Given the description of an element on the screen output the (x, y) to click on. 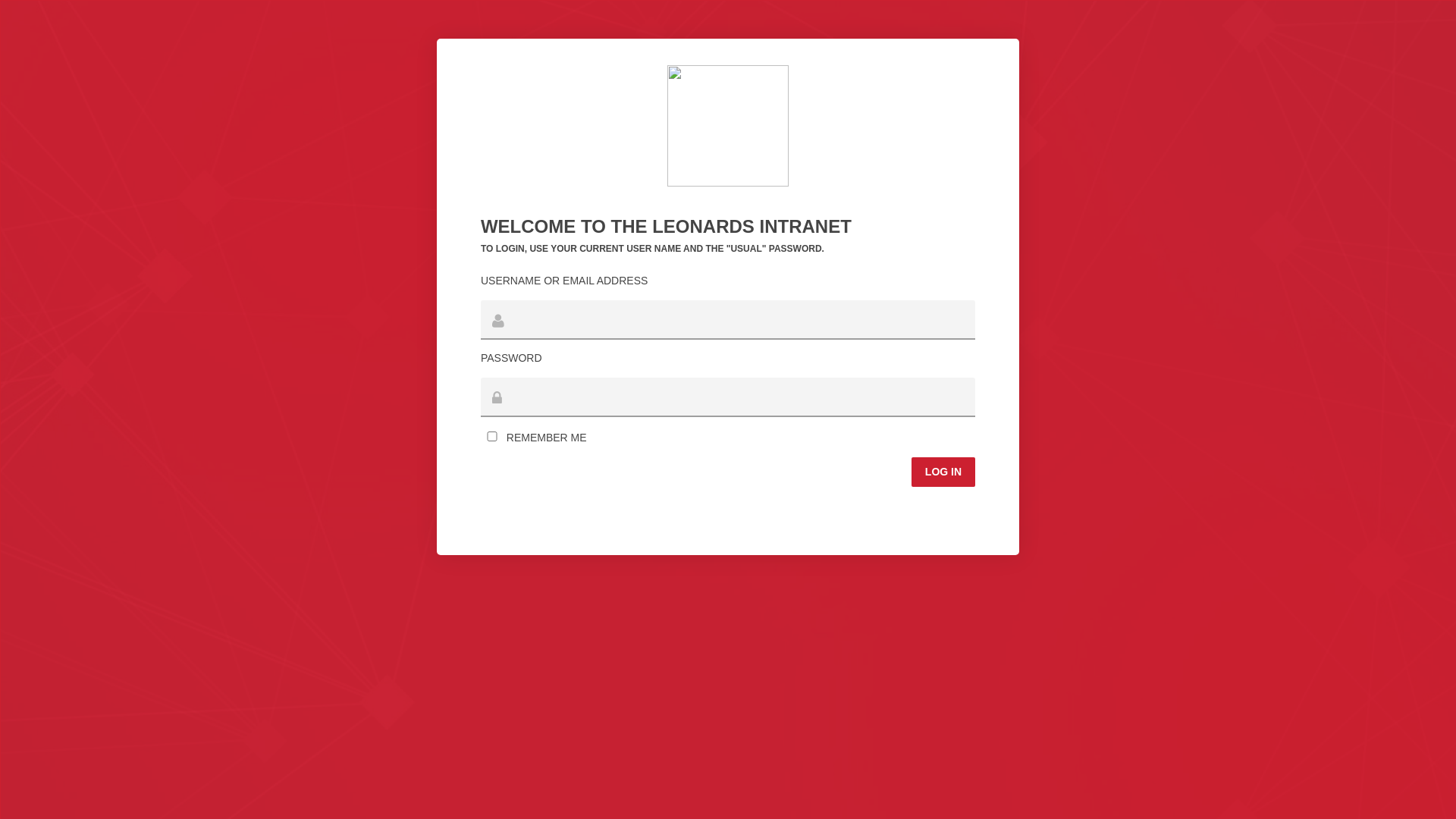
Log In Element type: text (943, 471)
